Given the description of an element on the screen output the (x, y) to click on. 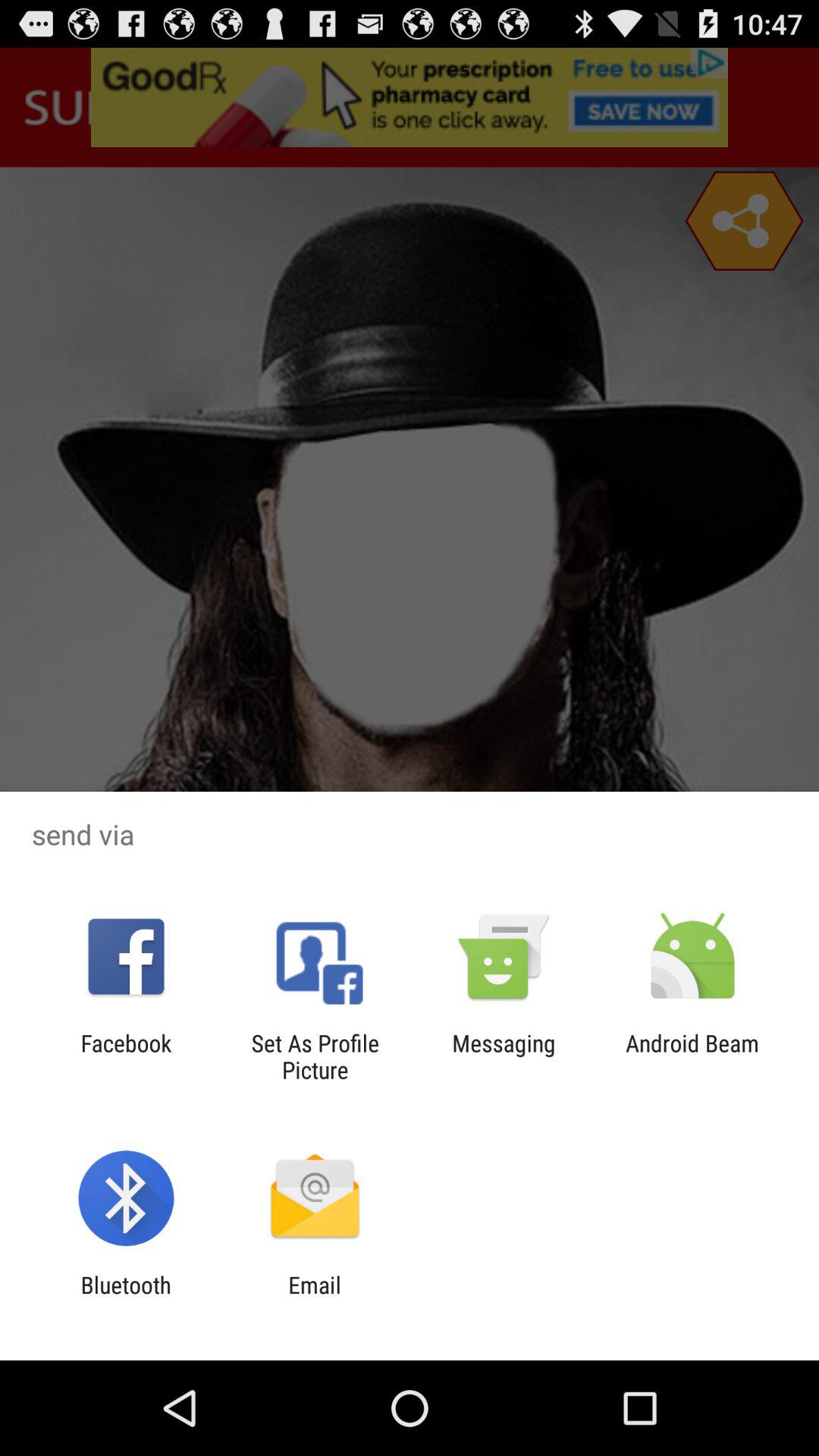
launch icon to the left of the email icon (125, 1298)
